Given the description of an element on the screen output the (x, y) to click on. 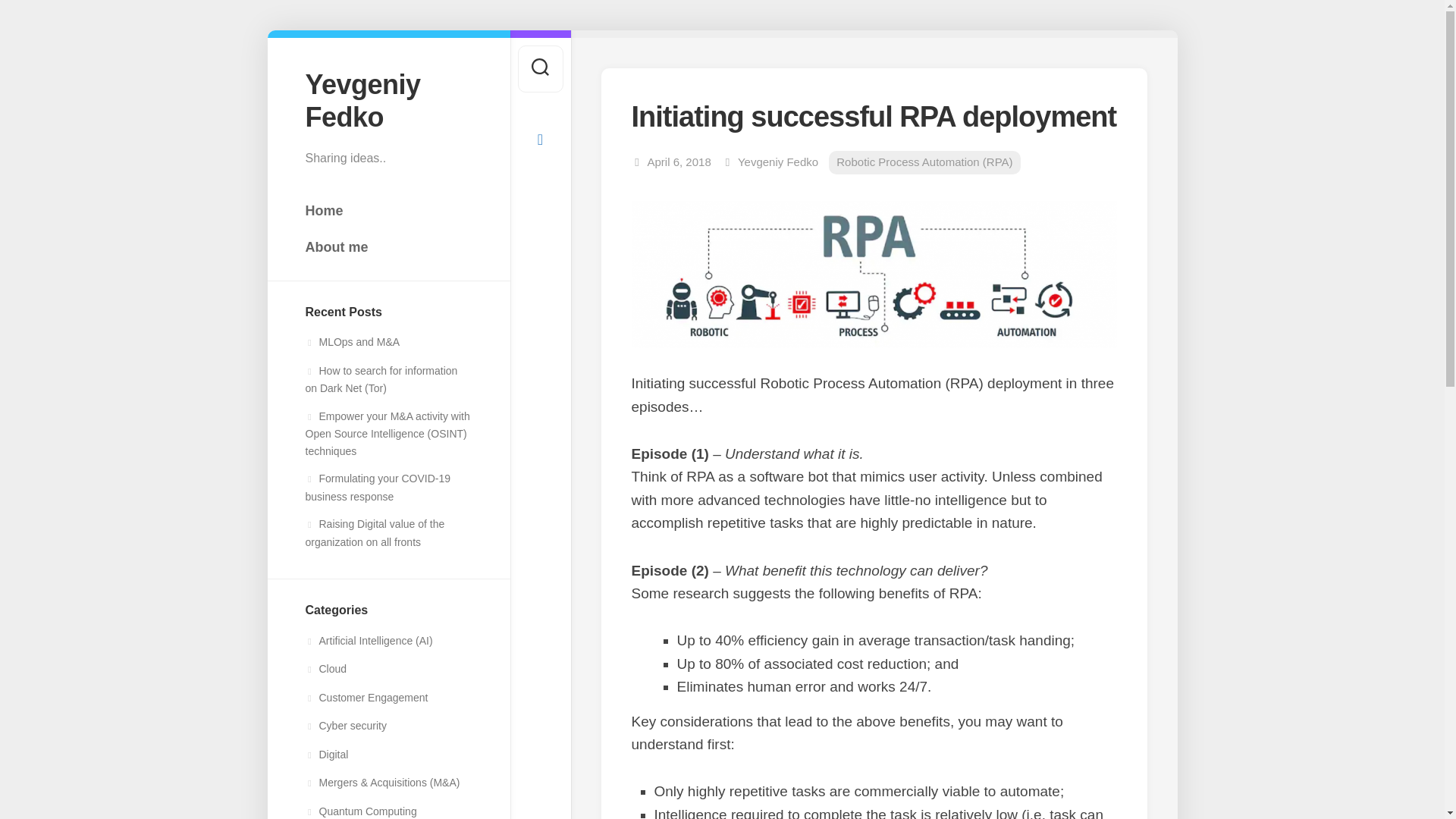
Customer Engagement (366, 697)
Yevgeniy Fedko (387, 100)
Cloud (325, 668)
Yevgeniy Fedko (778, 161)
Cyber security (344, 725)
Posts by Yevgeniy Fedko (778, 161)
LinkedIn (539, 138)
Raising Digital value of the organization on all fronts (374, 532)
Formulating your COVID-19 business response (376, 487)
Quantum Computing (360, 811)
Digital (325, 754)
Home (387, 210)
About me (387, 246)
